Given the description of an element on the screen output the (x, y) to click on. 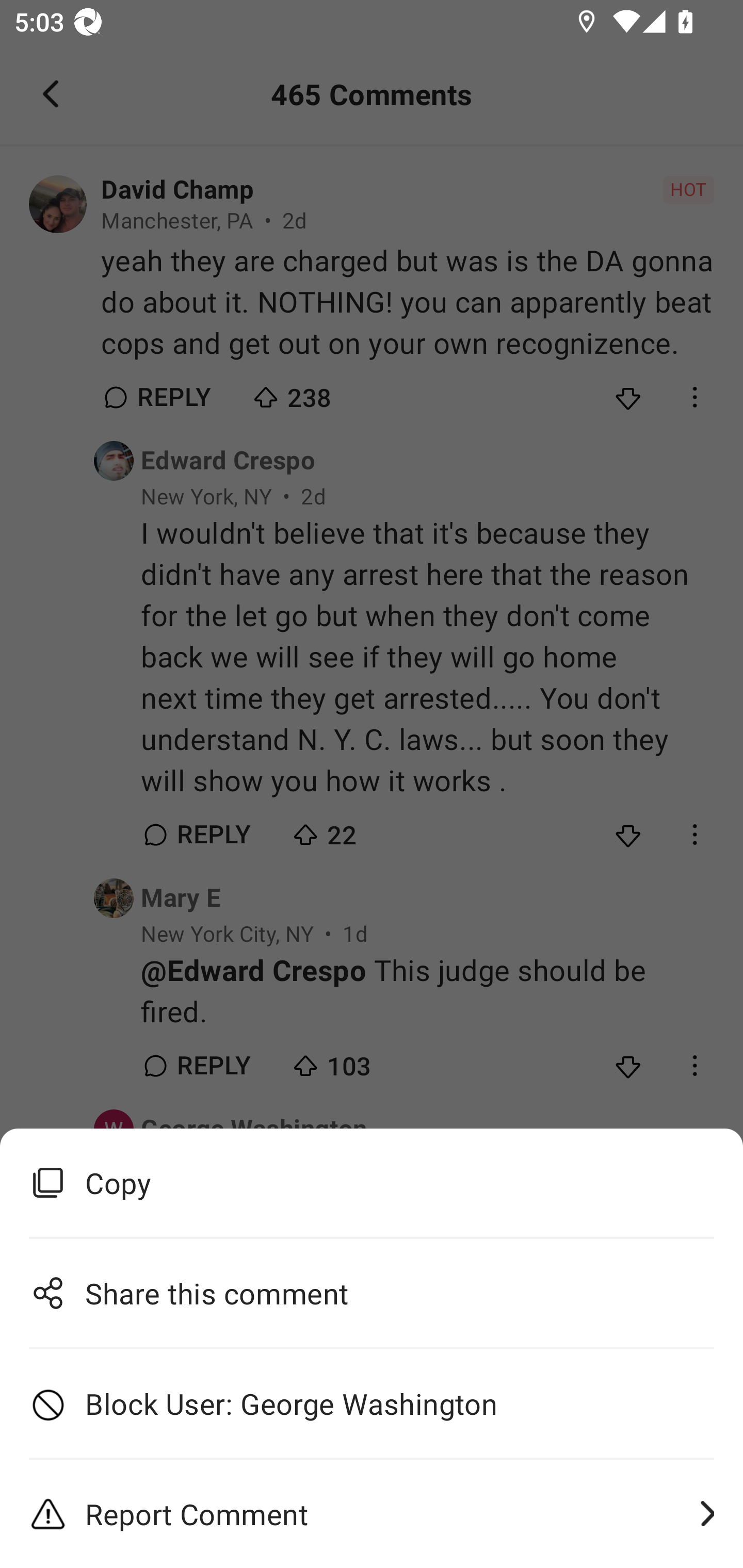
Copy (371, 1182)
Share this comment (371, 1292)
Block User: George Washington  (371, 1404)
Report Comment (371, 1513)
